Given the description of an element on the screen output the (x, y) to click on. 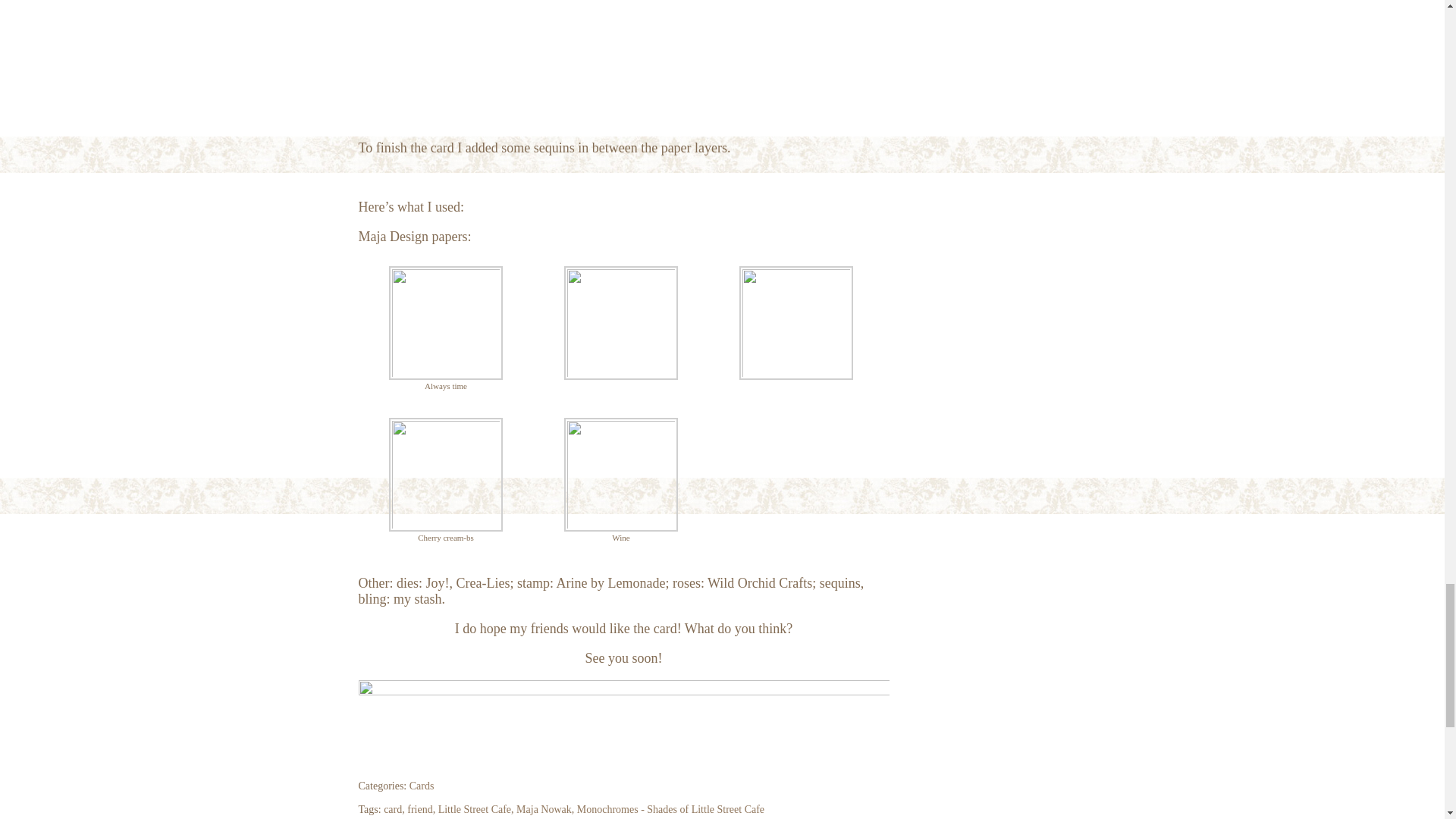
Little Street Cafe (474, 808)
friend (419, 808)
card (392, 808)
Monochromes - Shades of Little Street Cafe (670, 808)
Cards (421, 785)
Maja Nowak (544, 808)
